Given the description of an element on the screen output the (x, y) to click on. 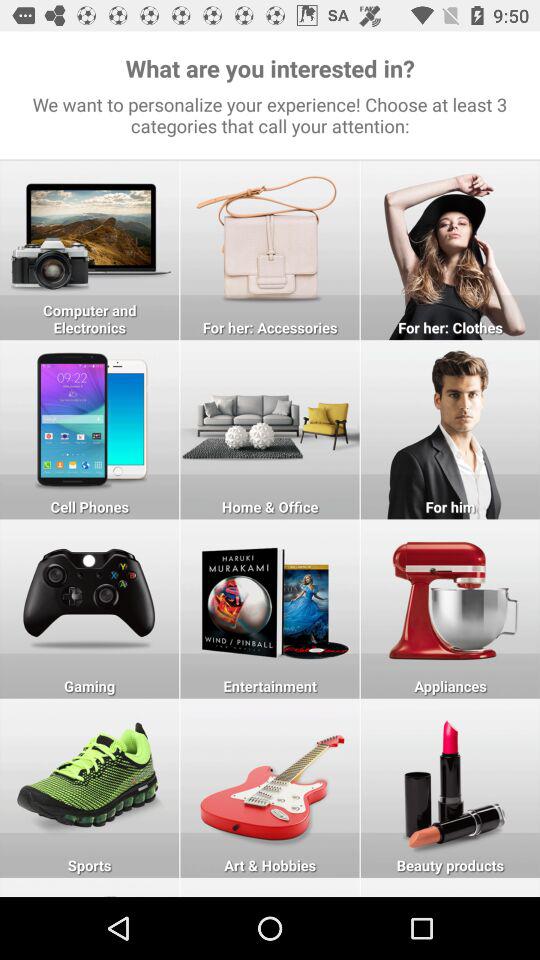
takes the user to books and games on the site (269, 608)
